Given the description of an element on the screen output the (x, y) to click on. 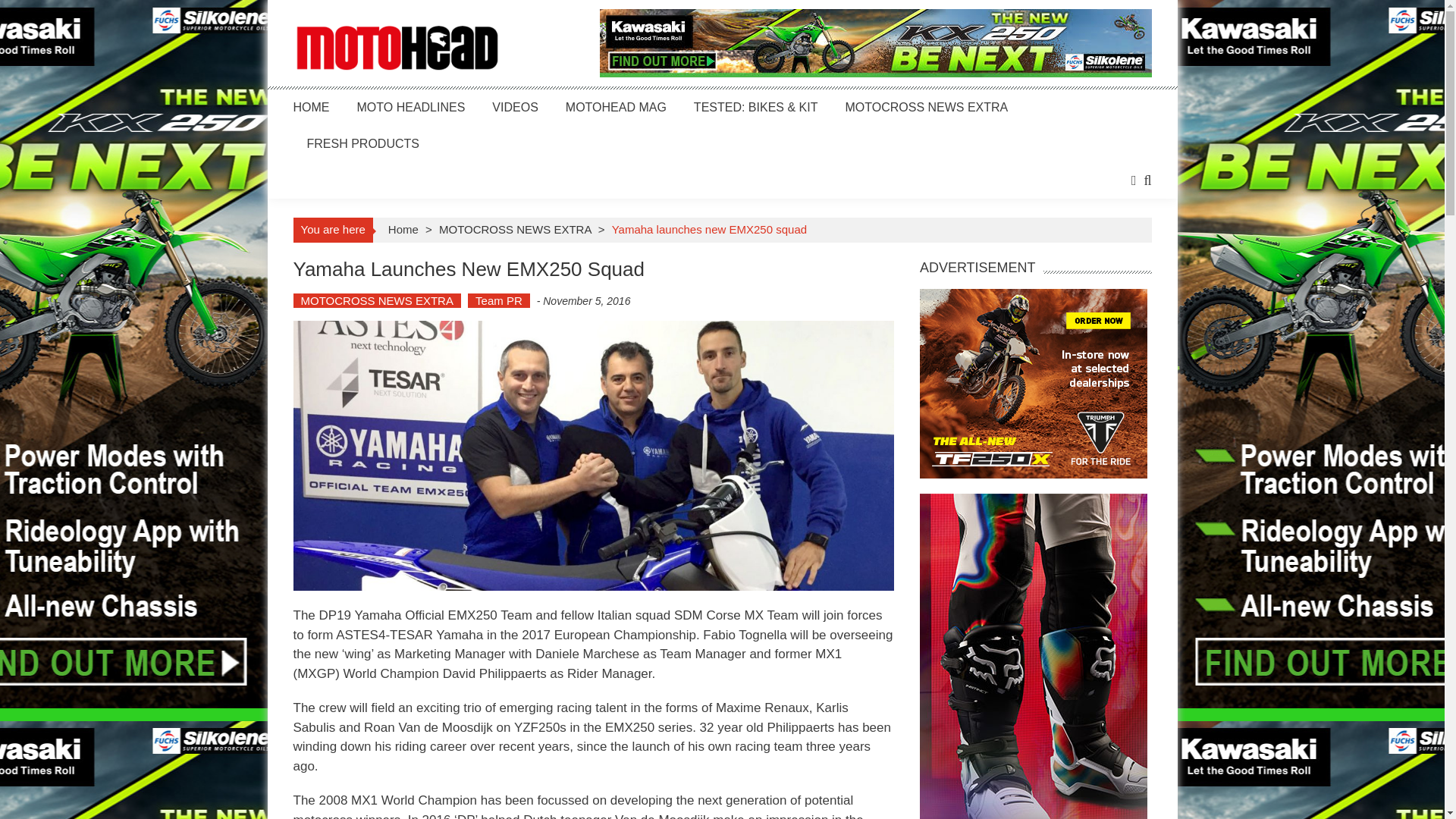
MOTOHEAD MAG (616, 106)
VIDEOS (514, 106)
MOTOCROSS NEWS EXTRA (515, 228)
MOTOCROSS NEWS EXTRA (376, 300)
Team PR (498, 300)
motoheadmag (396, 48)
FRESH PRODUCTS (362, 143)
MOTO HEADLINES (410, 106)
HOME (310, 106)
